Given the description of an element on the screen output the (x, y) to click on. 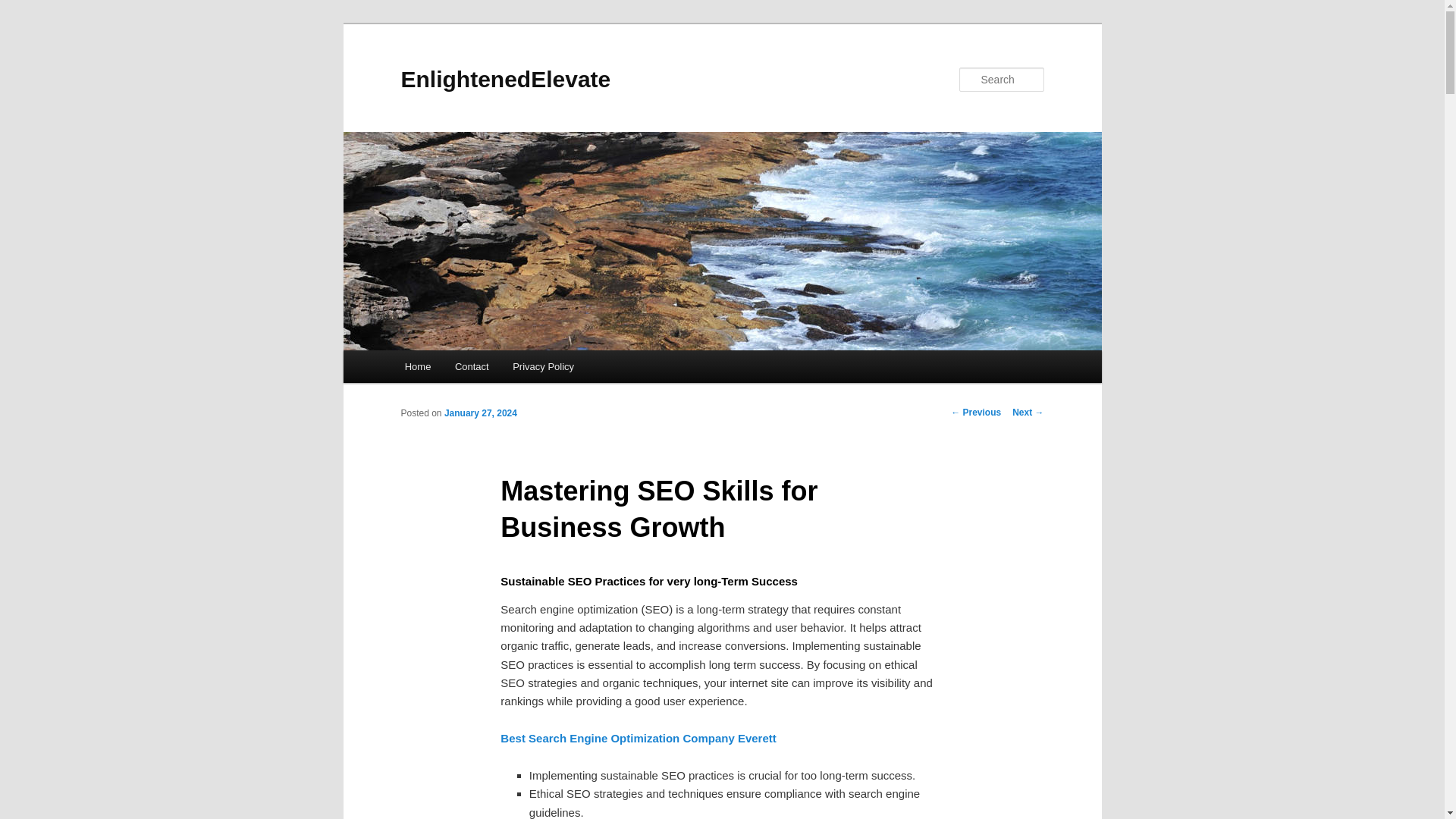
Contact (471, 366)
EnlightenedElevate (505, 78)
Home (417, 366)
January 27, 2024 (480, 412)
11:29 pm (480, 412)
Privacy Policy (542, 366)
Search (24, 8)
Best Search Engine Optimization Company Everett (638, 738)
